Given the description of an element on the screen output the (x, y) to click on. 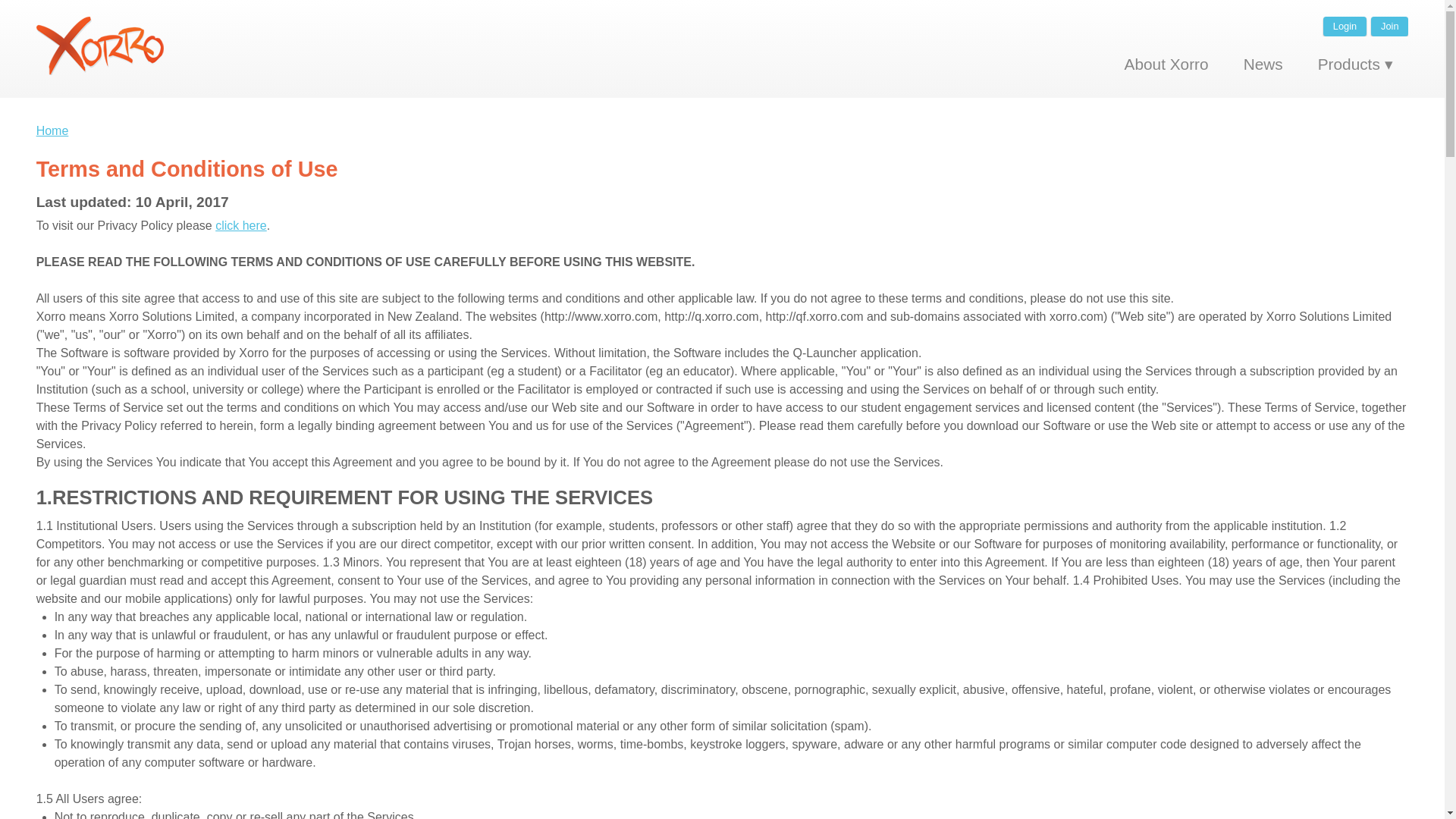
click here (240, 225)
Login (1345, 26)
News (1262, 63)
About Xorro (1166, 63)
Home (52, 130)
Join (1389, 26)
